Given the description of an element on the screen output the (x, y) to click on. 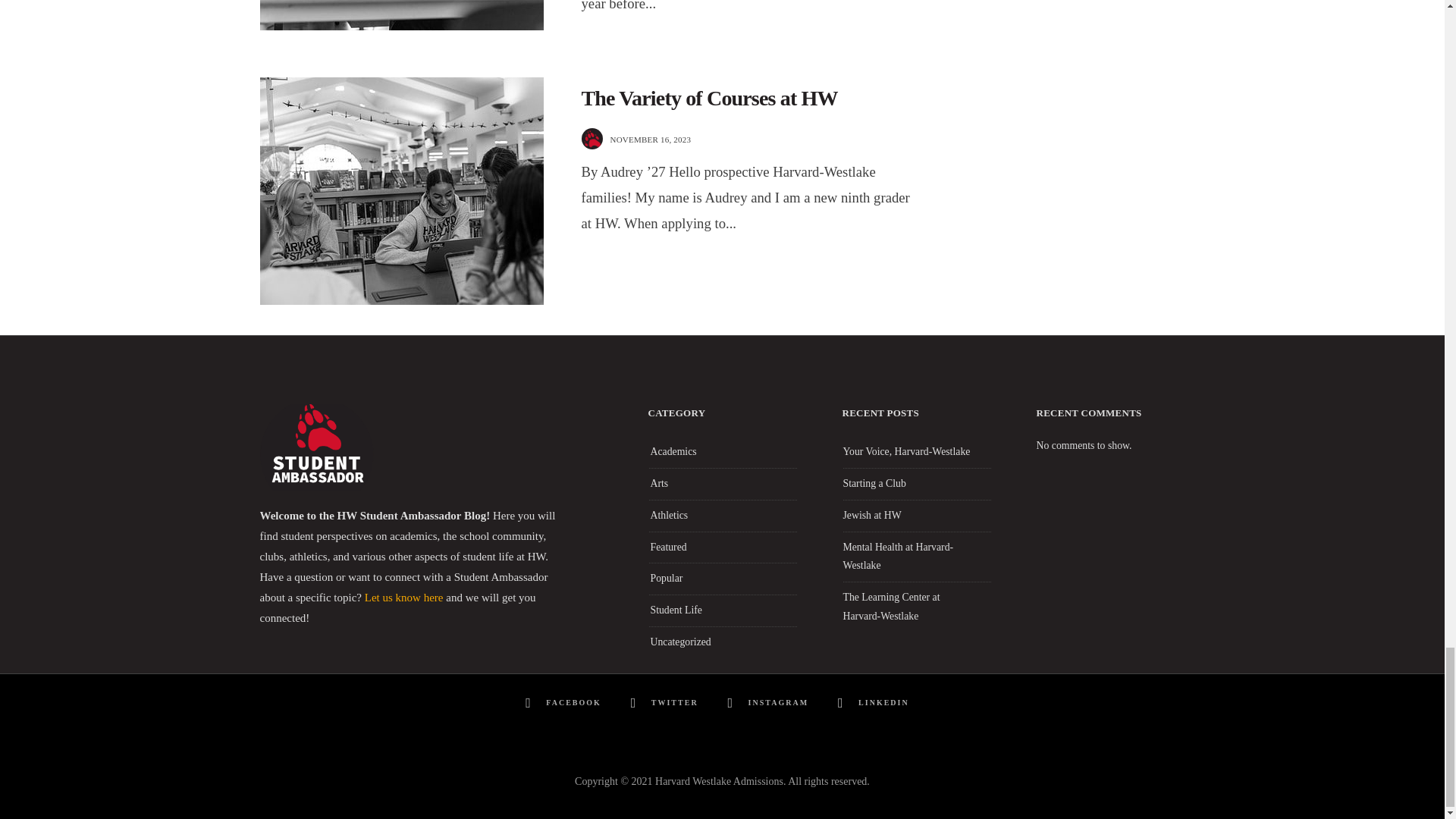
Facebook (565, 703)
Instagram (770, 703)
Twitter (667, 703)
The Variety of Courses at HW (708, 98)
LinkedIn (876, 703)
